Given the description of an element on the screen output the (x, y) to click on. 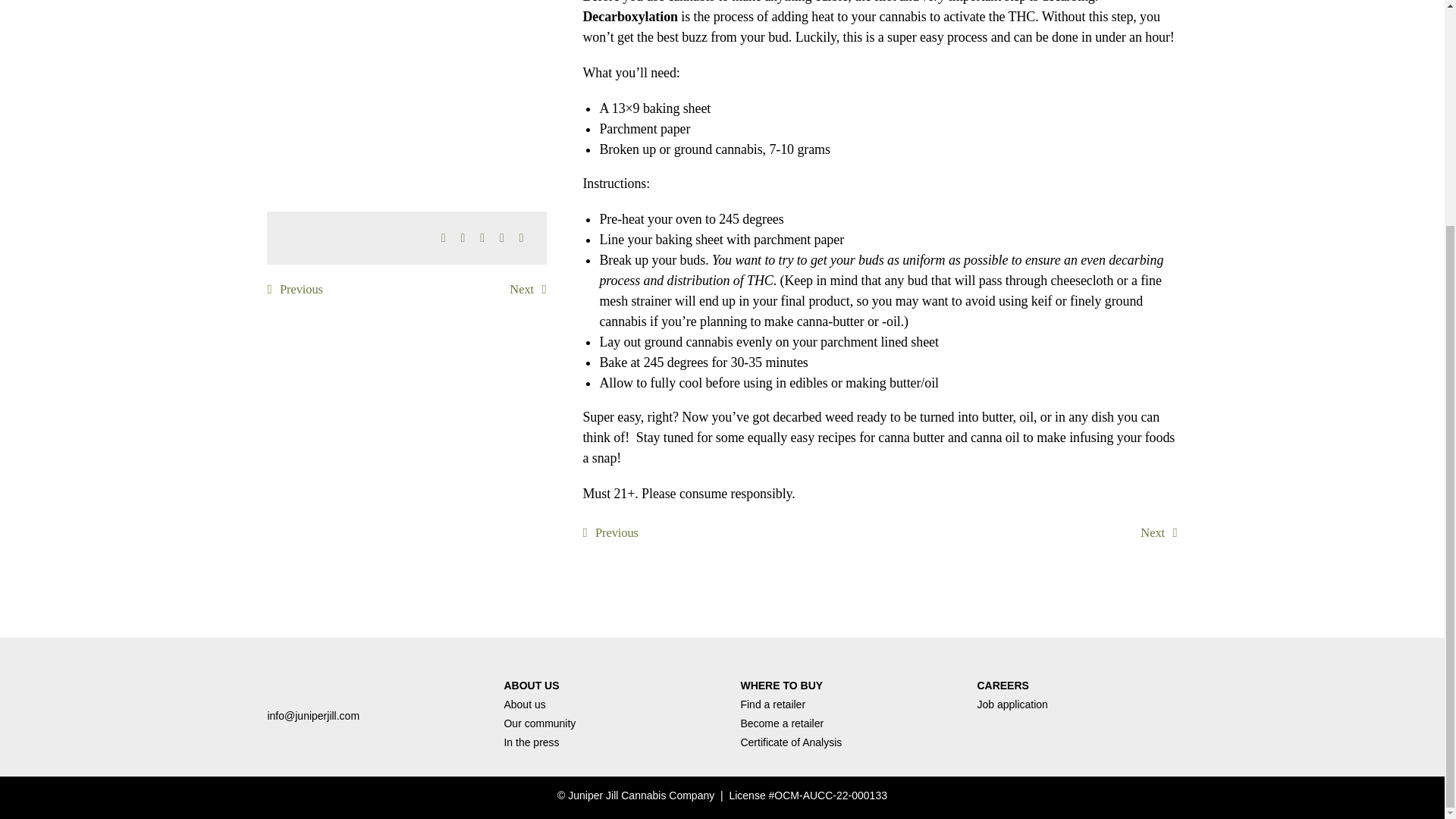
Find a retailer (772, 704)
Next (527, 289)
LinkedIn (481, 238)
WhatsApp (502, 238)
Previous (609, 532)
Previous (293, 289)
Email (521, 238)
Facebook (442, 238)
About us (523, 704)
Certificate of Analysis (790, 742)
